Given the description of an element on the screen output the (x, y) to click on. 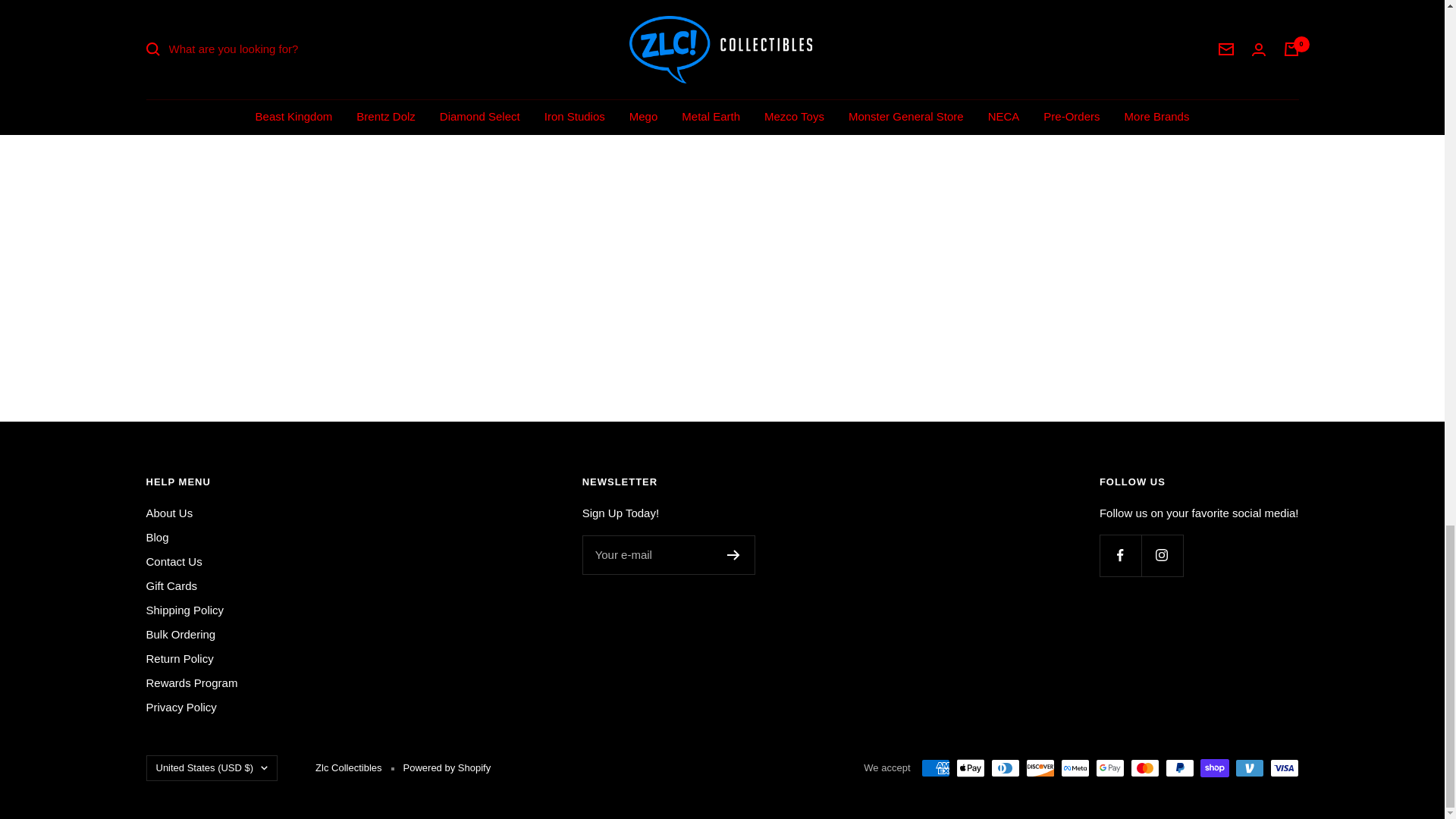
Register (732, 554)
